Given the description of an element on the screen output the (x, y) to click on. 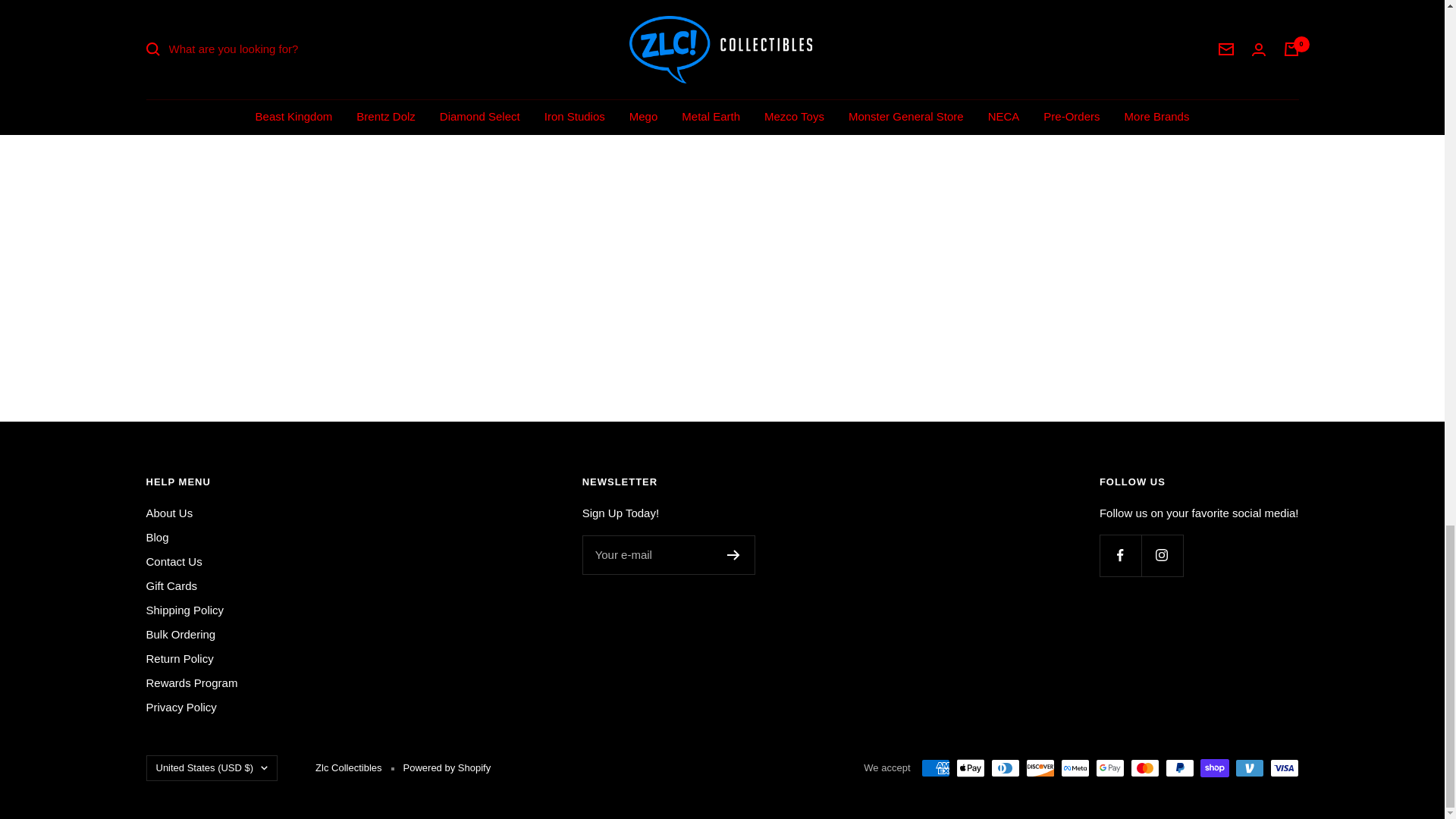
Register (732, 554)
